Given the description of an element on the screen output the (x, y) to click on. 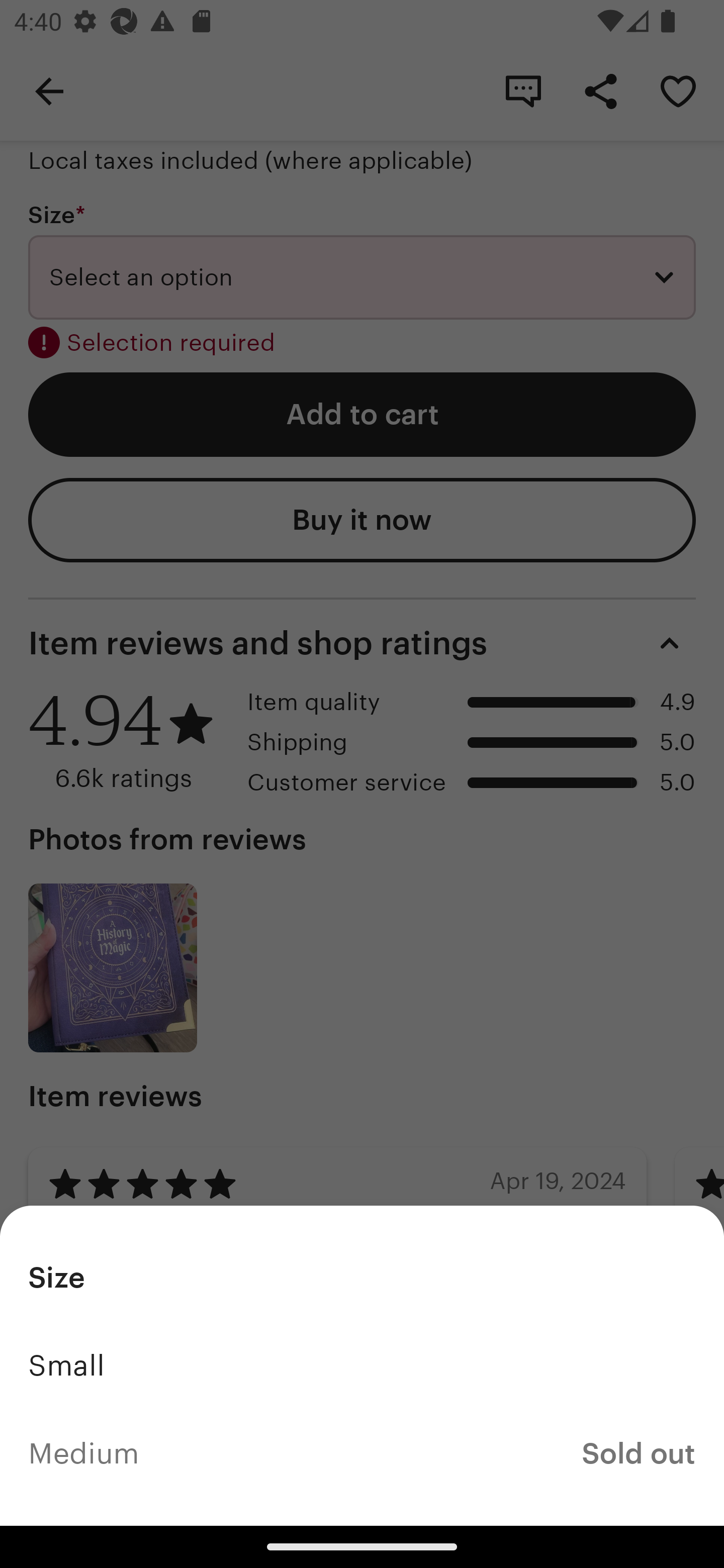
Small (362, 1365)
Medium Sold out (362, 1453)
